Given the description of an element on the screen output the (x, y) to click on. 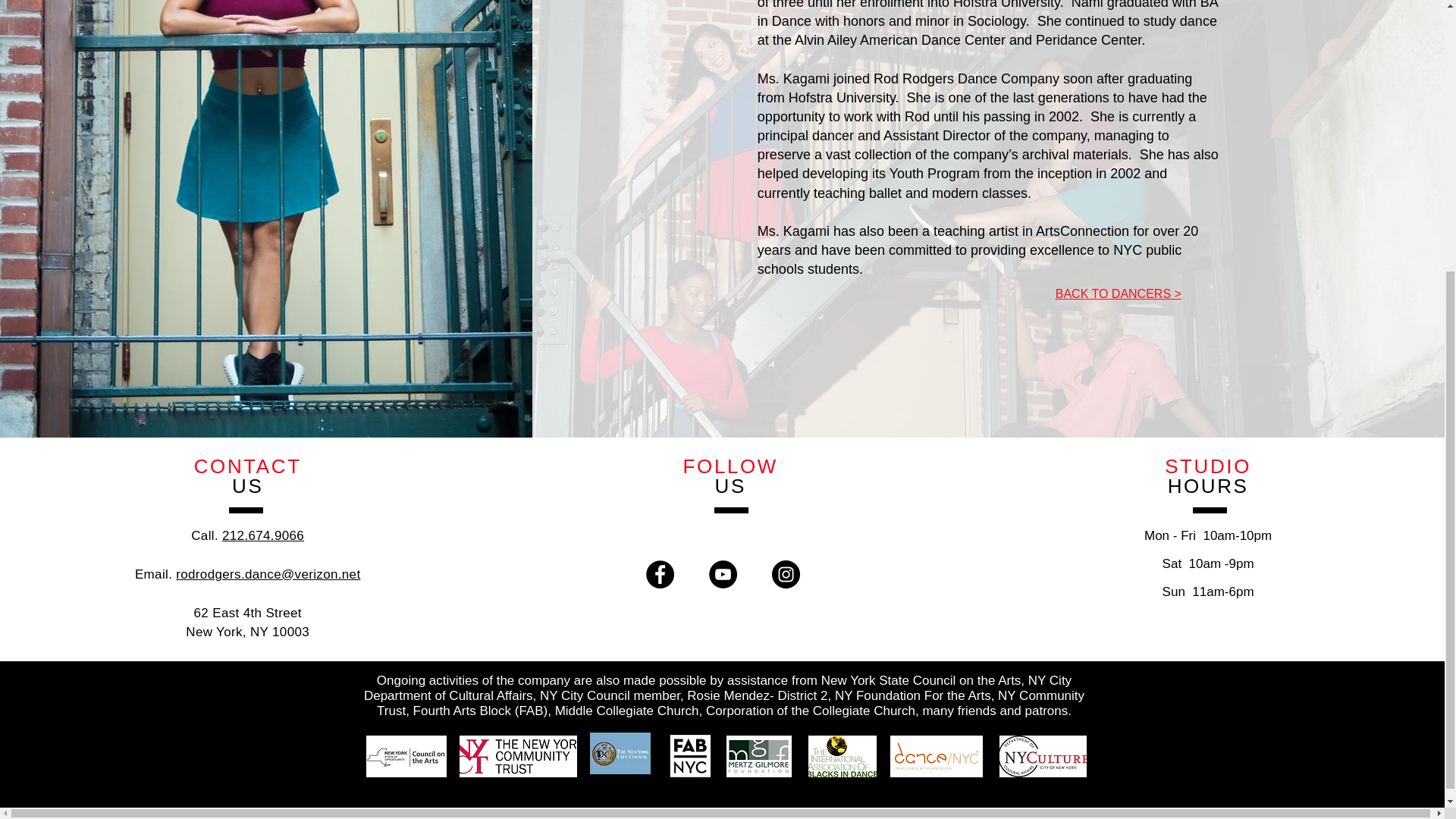
IABDA logo.png (842, 756)
Mertz Gilmore Logo.jpg (759, 756)
NYSCA Logo.png (405, 756)
